Given the description of an element on the screen output the (x, y) to click on. 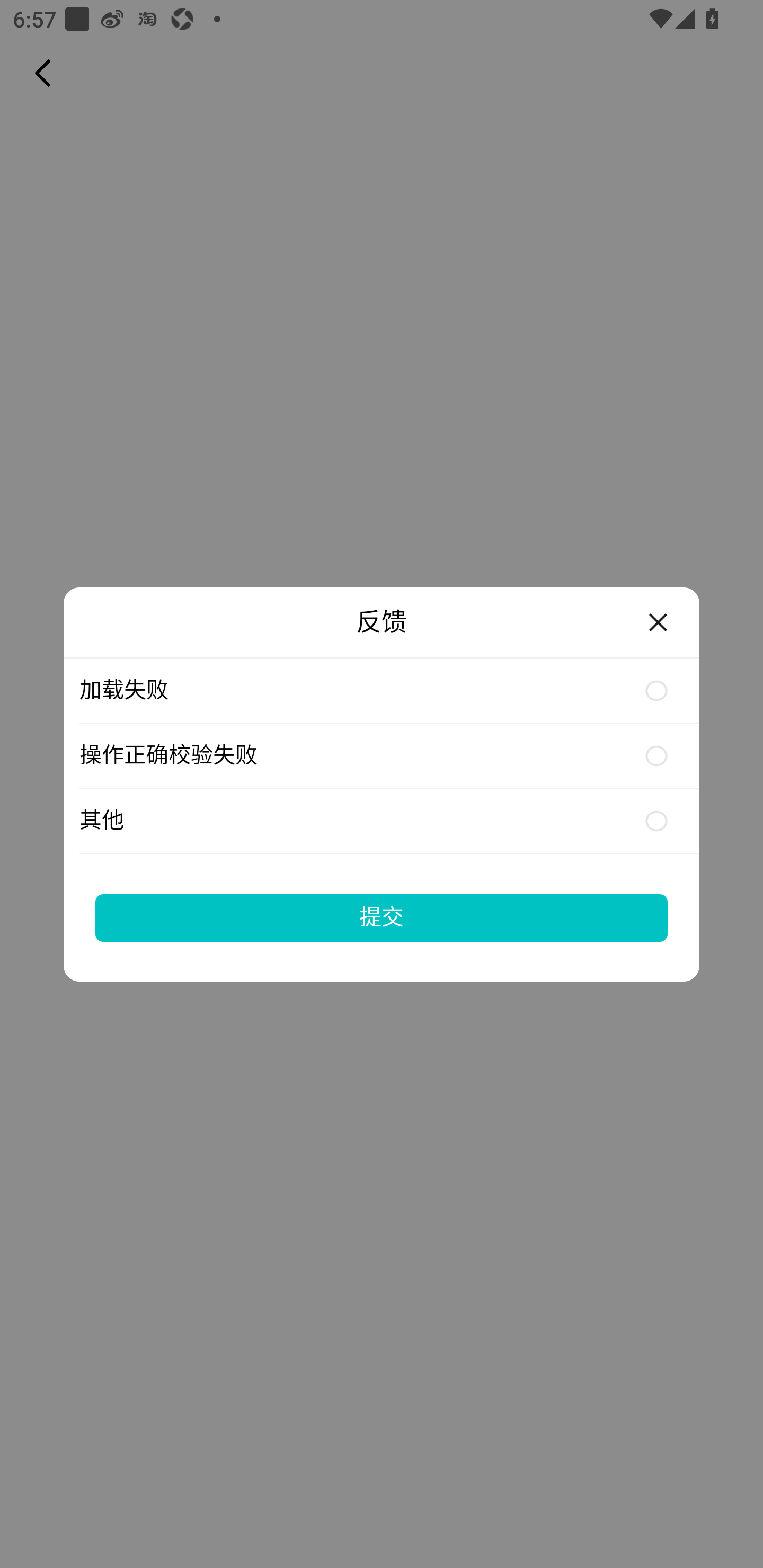
提交 (381, 917)
